Given the description of an element on the screen output the (x, y) to click on. 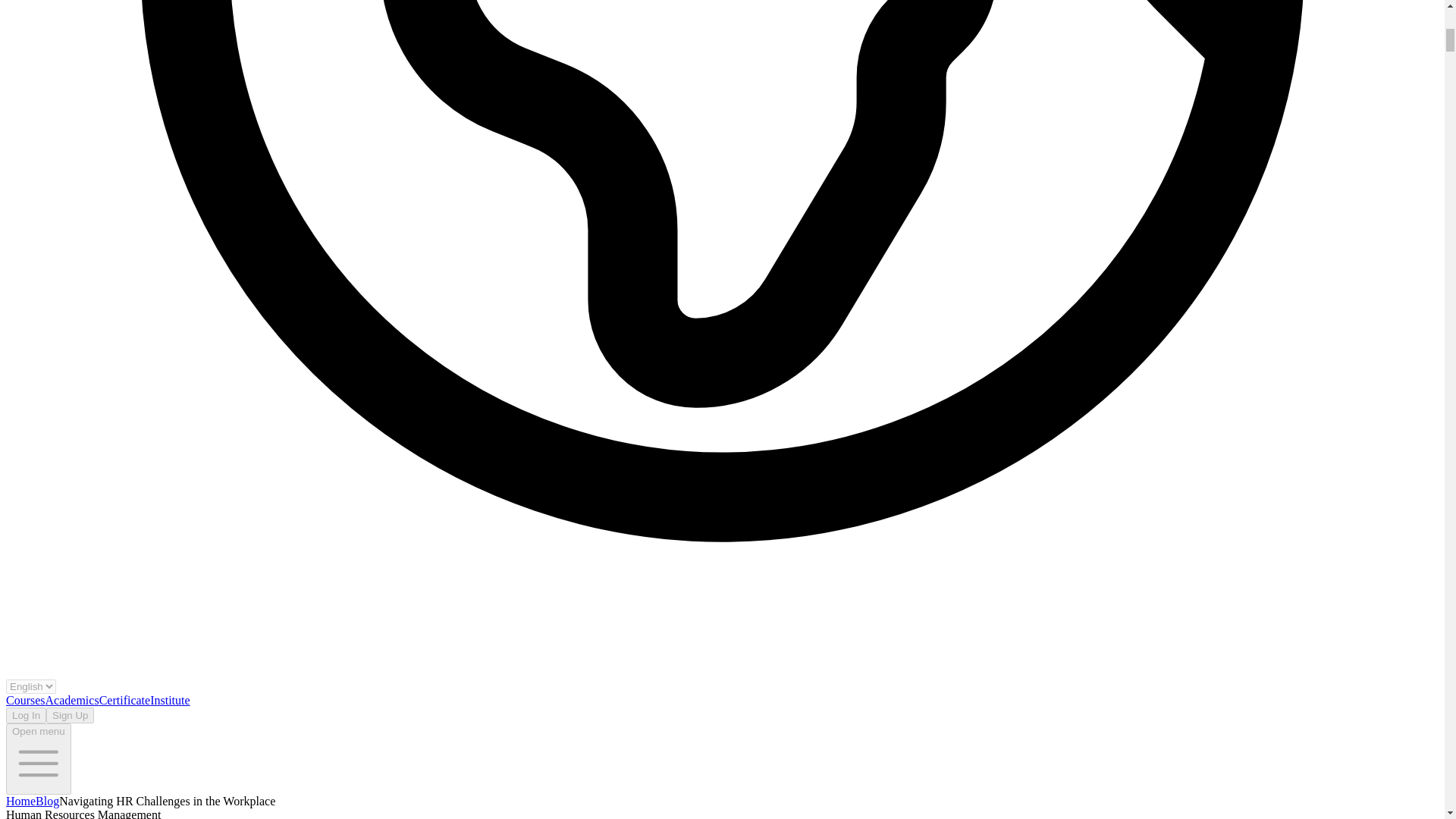
Home (19, 800)
Academics (72, 699)
Sign Up (70, 715)
Open menu (38, 758)
Sign Up (70, 714)
Log In (25, 715)
Institute (169, 699)
Courses (25, 699)
Blog (46, 800)
Certificate (125, 699)
Log In (25, 714)
